Given the description of an element on the screen output the (x, y) to click on. 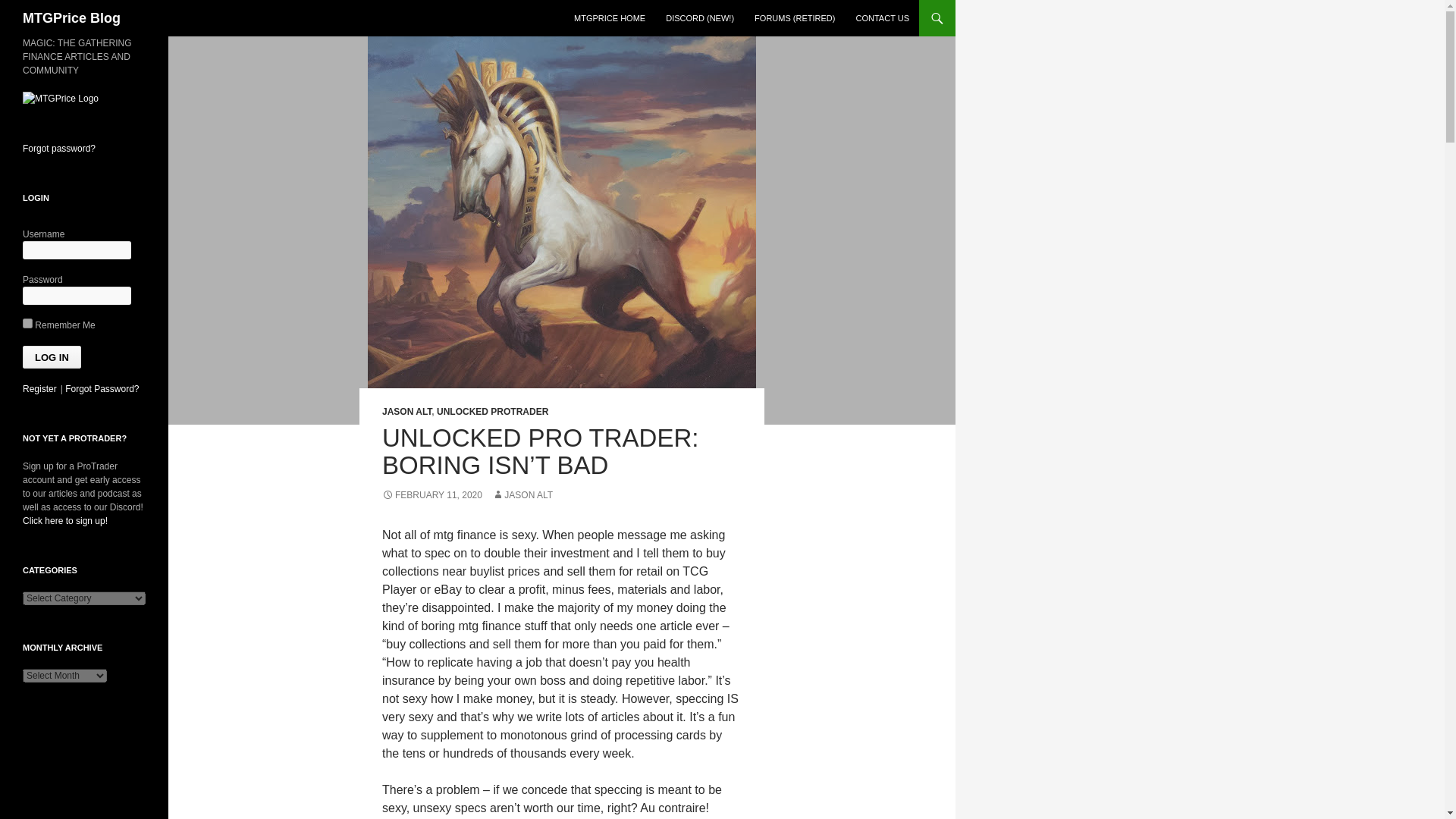
Log In (52, 356)
MTGPRICE HOME (608, 18)
MTGPrice Blog (71, 18)
Register (39, 388)
Forgot Password? (101, 388)
JASON ALT (522, 494)
JASON ALT (405, 411)
Forgot password? (59, 148)
Log In (52, 356)
forever (27, 323)
